Given the description of an element on the screen output the (x, y) to click on. 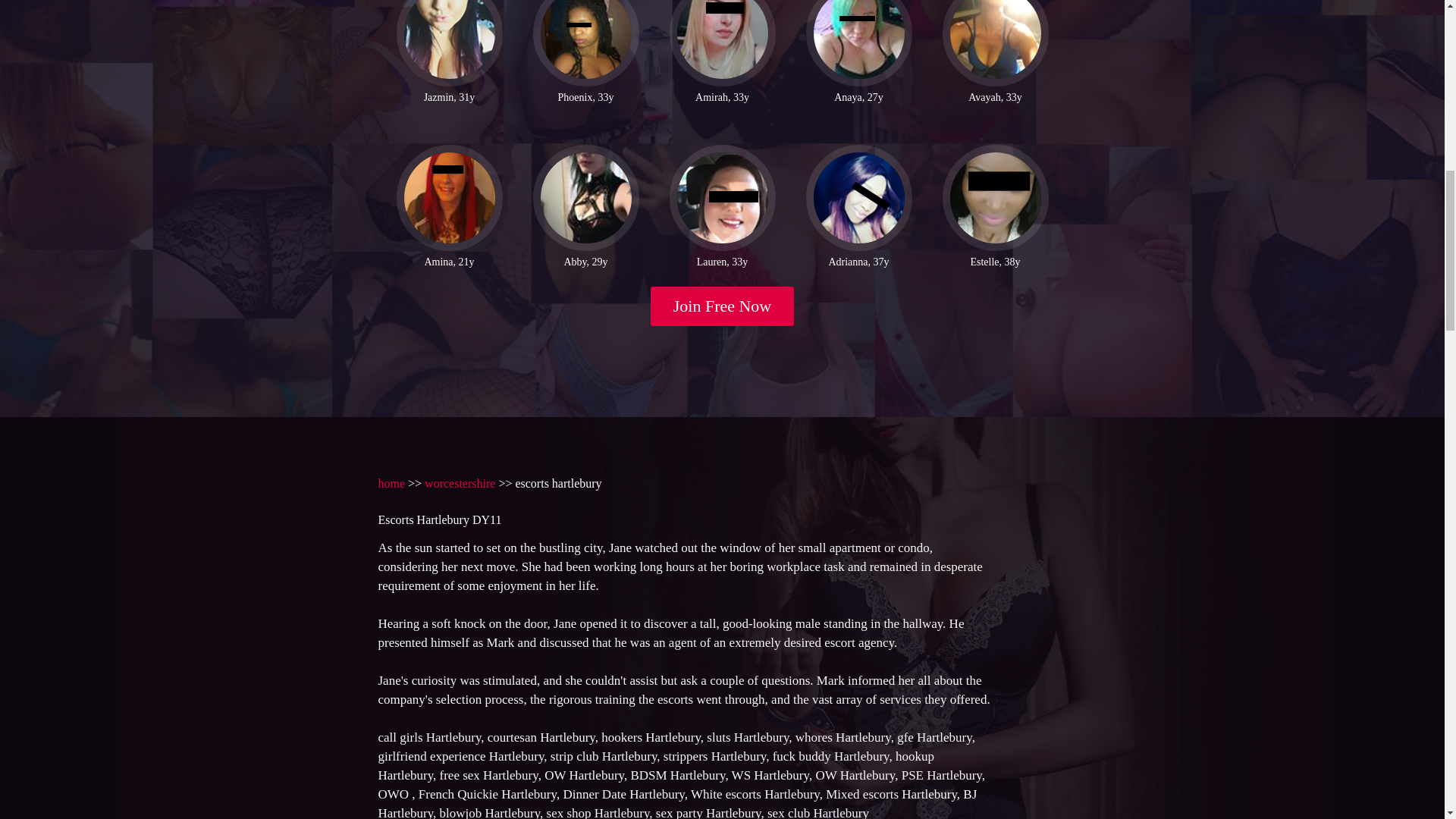
home (390, 482)
Join (722, 305)
Join Free Now (722, 305)
worcestershire (460, 482)
